Given the description of an element on the screen output the (x, y) to click on. 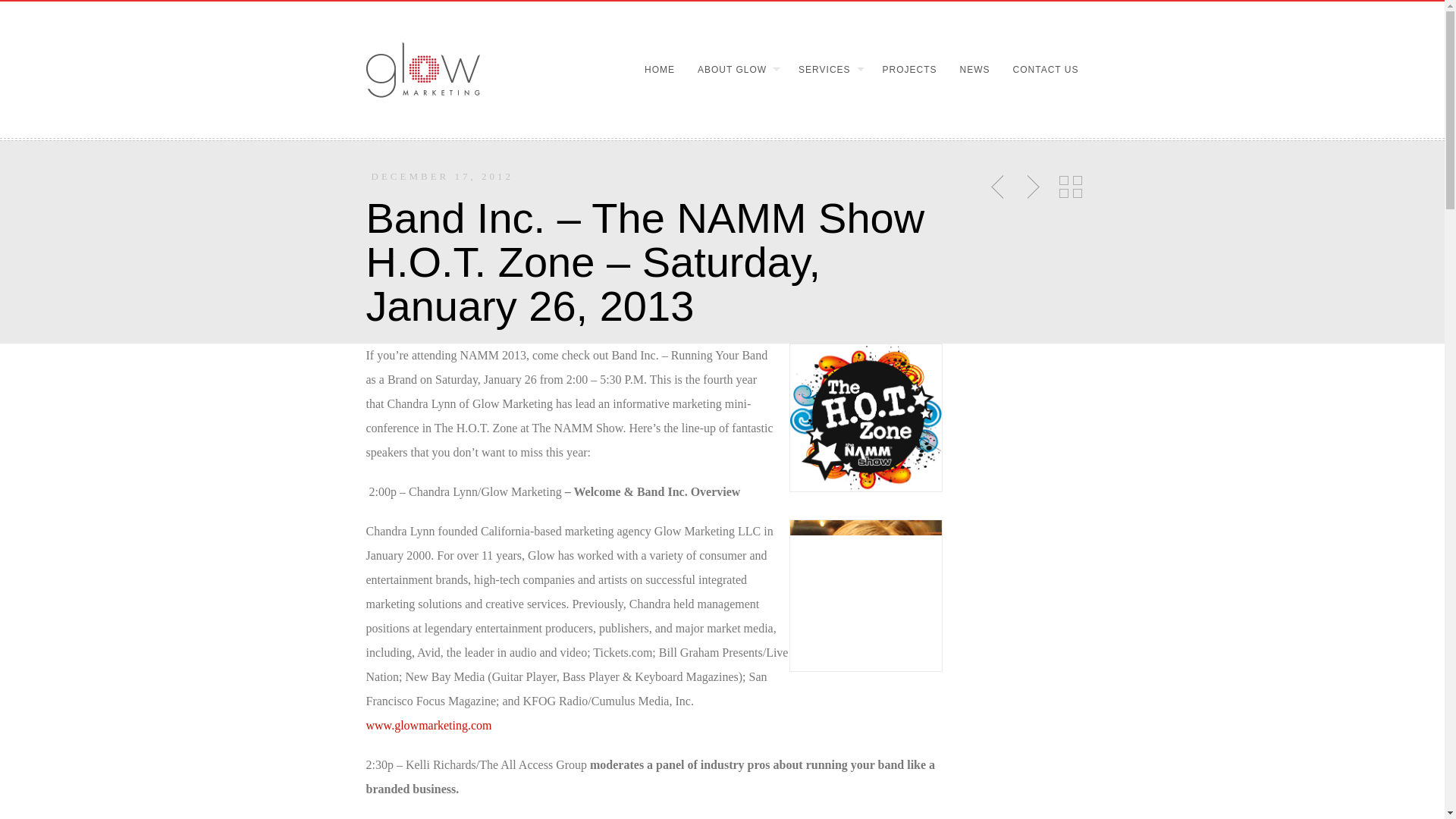
ABOUT GLOW (730, 70)
Next Post (1030, 187)
CONTACT US (1039, 70)
Back to Posts (1070, 187)
Previous Post (998, 187)
PROJECTS (903, 70)
SERVICES (823, 70)
